Given the description of an element on the screen output the (x, y) to click on. 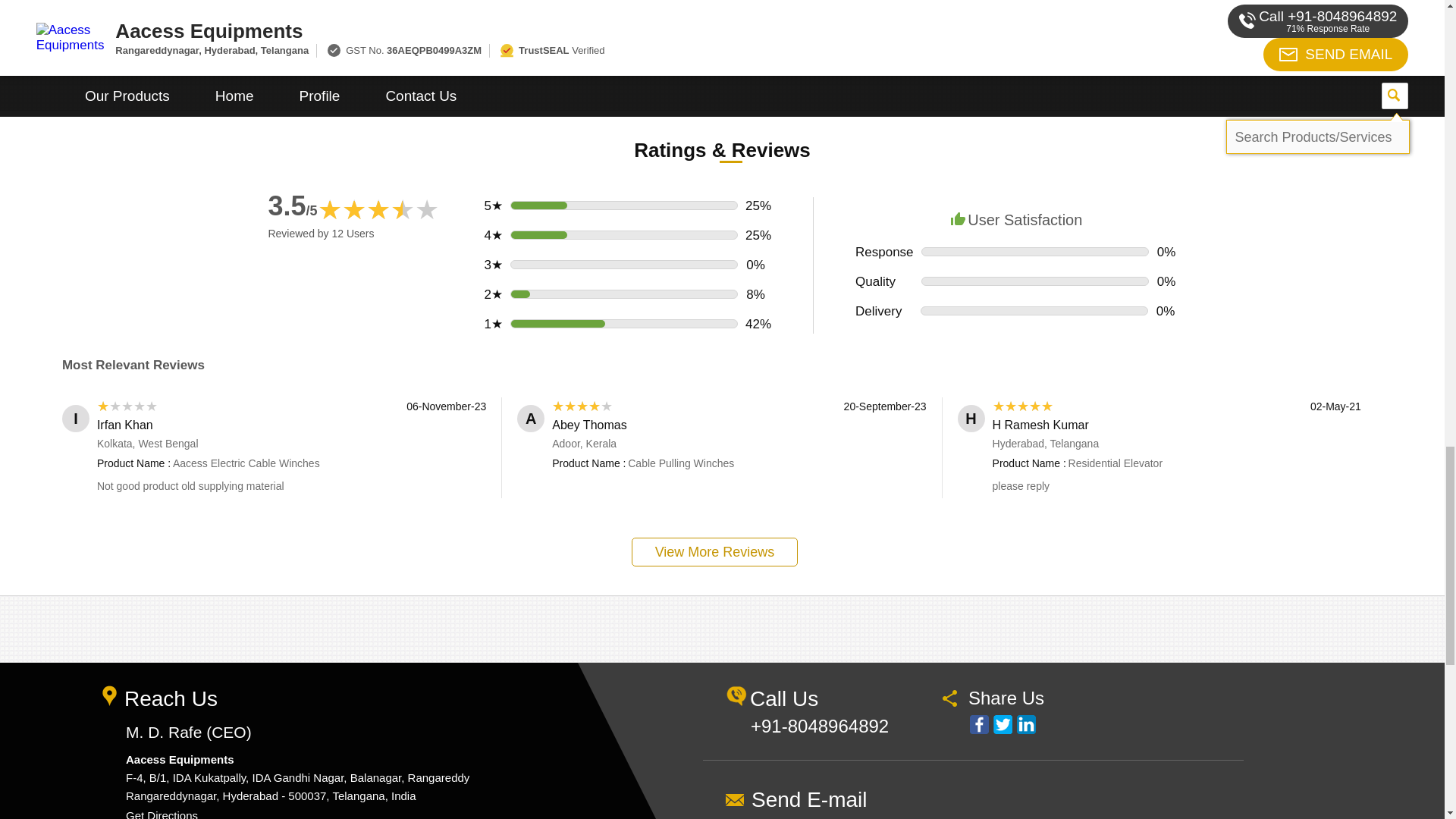
3.5 out of 5 Votes (292, 205)
